Given the description of an element on the screen output the (x, y) to click on. 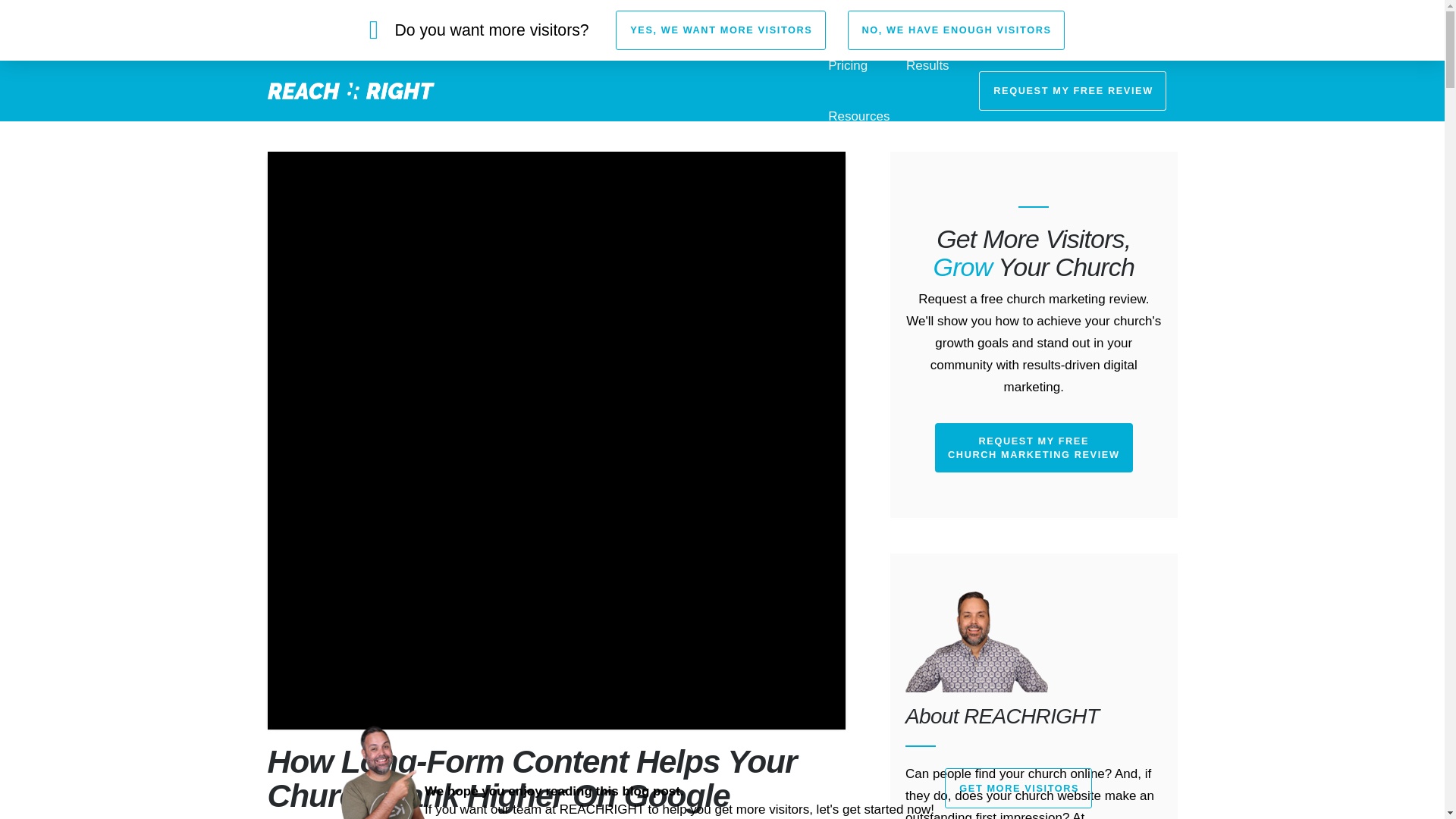
YES, WE WANT MORE VISITORS (720, 29)
REQUEST MY FREE REVIEW (1072, 90)
Pricing (847, 65)
NO, WE HAVE ENOUGH VISITORS (955, 29)
Results (927, 65)
